Given the description of an element on the screen output the (x, y) to click on. 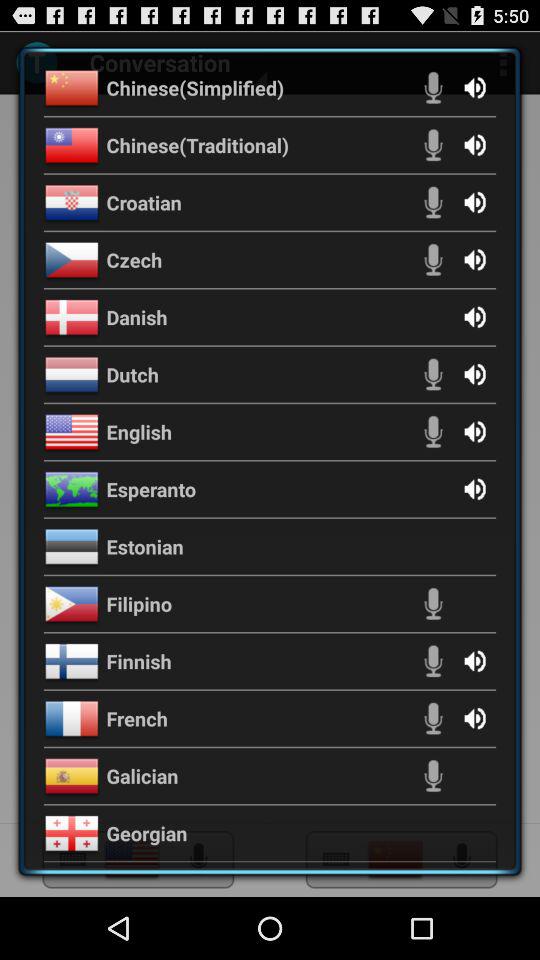
scroll to the esperanto icon (151, 488)
